Given the description of an element on the screen output the (x, y) to click on. 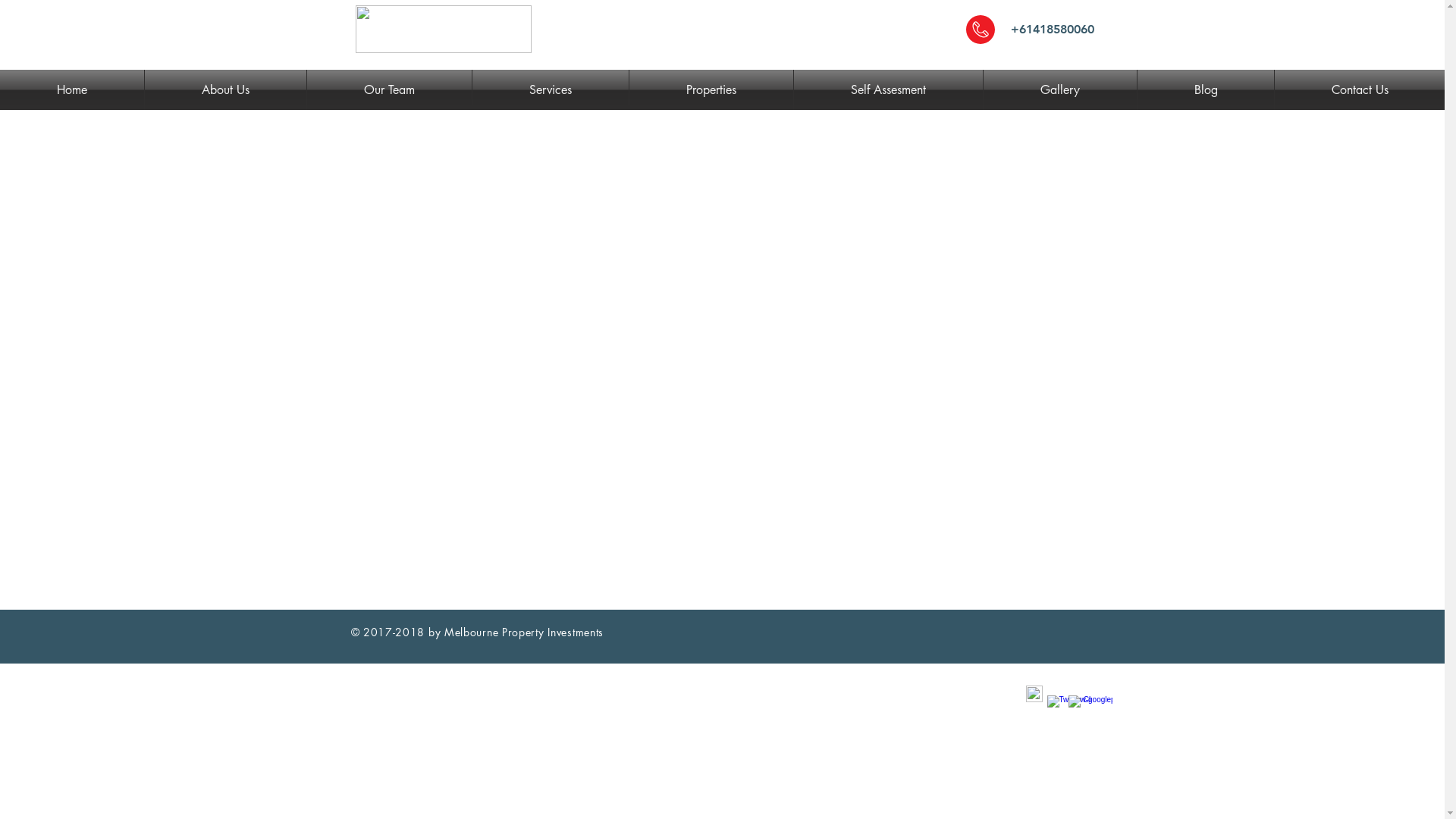
Twitter Follow Element type: hover (830, 632)
Facebook Like Element type: hover (916, 631)
About Us Element type: text (225, 89)
Home Element type: text (72, 89)
Services Element type: text (550, 89)
Properties Element type: text (711, 89)
Wix Hit Counter Element type: hover (1025, 631)
Gallery Element type: text (1059, 89)
123 Form Builder & Payments Element type: hover (672, 389)
Blog Element type: text (1205, 89)
Self Assesment Element type: text (887, 89)
Contact Us Element type: text (1359, 89)
Our Team Element type: text (389, 89)
